Given the description of an element on the screen output the (x, y) to click on. 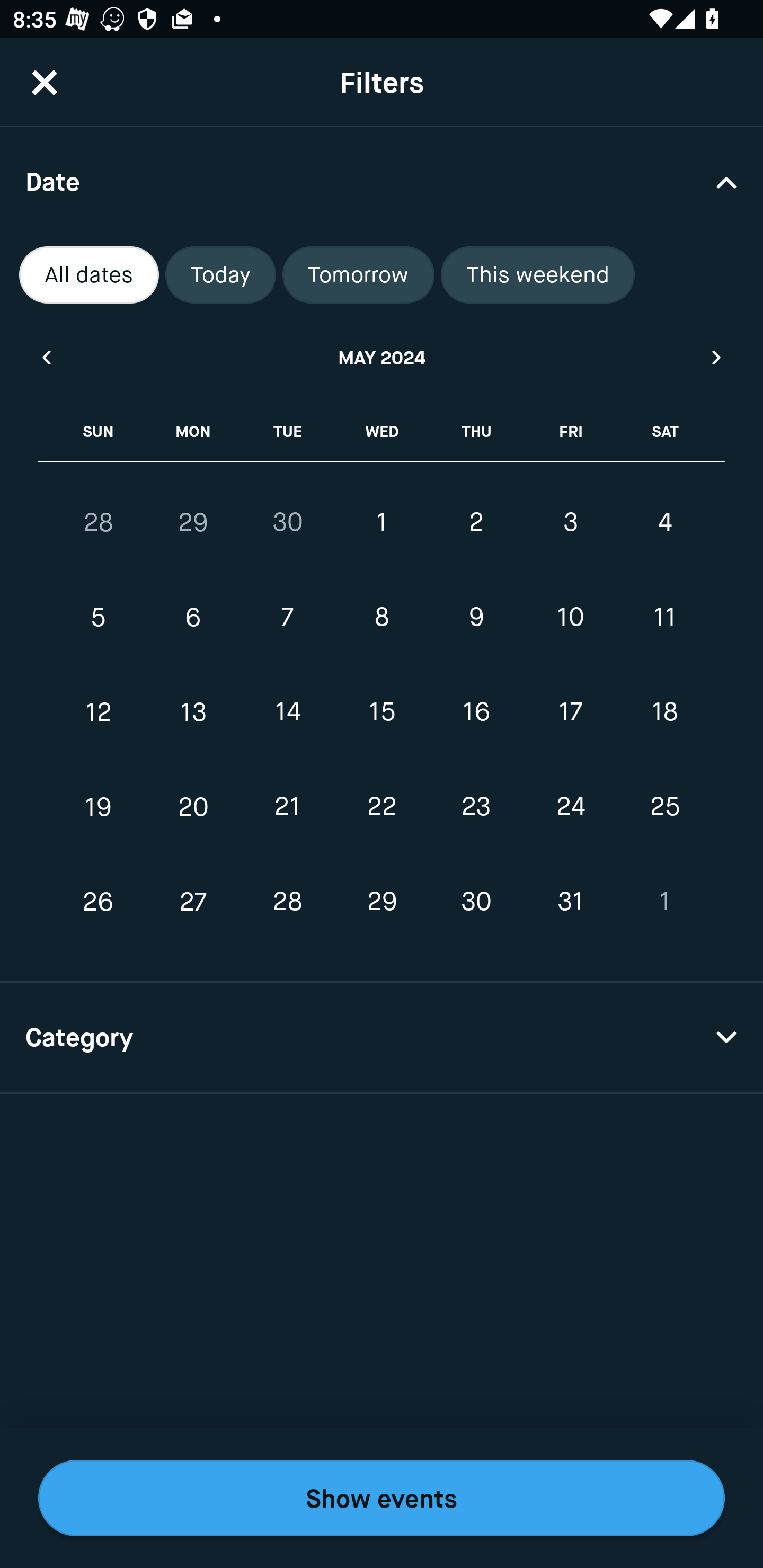
CloseButton (44, 82)
Date Drop Down Arrow (381, 181)
All dates (88, 274)
Today (220, 274)
Tomorrow (358, 274)
This weekend (537, 274)
Previous (45, 357)
Next (717, 357)
28 (98, 522)
29 (192, 522)
30 (287, 522)
1 (381, 522)
2 (475, 522)
3 (570, 522)
4 (664, 522)
5 (98, 617)
6 (192, 617)
7 (287, 617)
8 (381, 617)
9 (475, 617)
10 (570, 617)
11 (664, 617)
12 (98, 711)
13 (192, 711)
14 (287, 711)
15 (381, 711)
16 (475, 711)
17 (570, 711)
18 (664, 711)
19 (98, 806)
20 (192, 806)
21 (287, 806)
22 (381, 806)
23 (475, 806)
24 (570, 806)
25 (664, 806)
26 (98, 901)
27 (192, 901)
28 (287, 901)
29 (381, 901)
30 (475, 901)
31 (570, 901)
1 (664, 901)
Category Drop Down Arrow (381, 1038)
Show events (381, 1497)
